Given the description of an element on the screen output the (x, y) to click on. 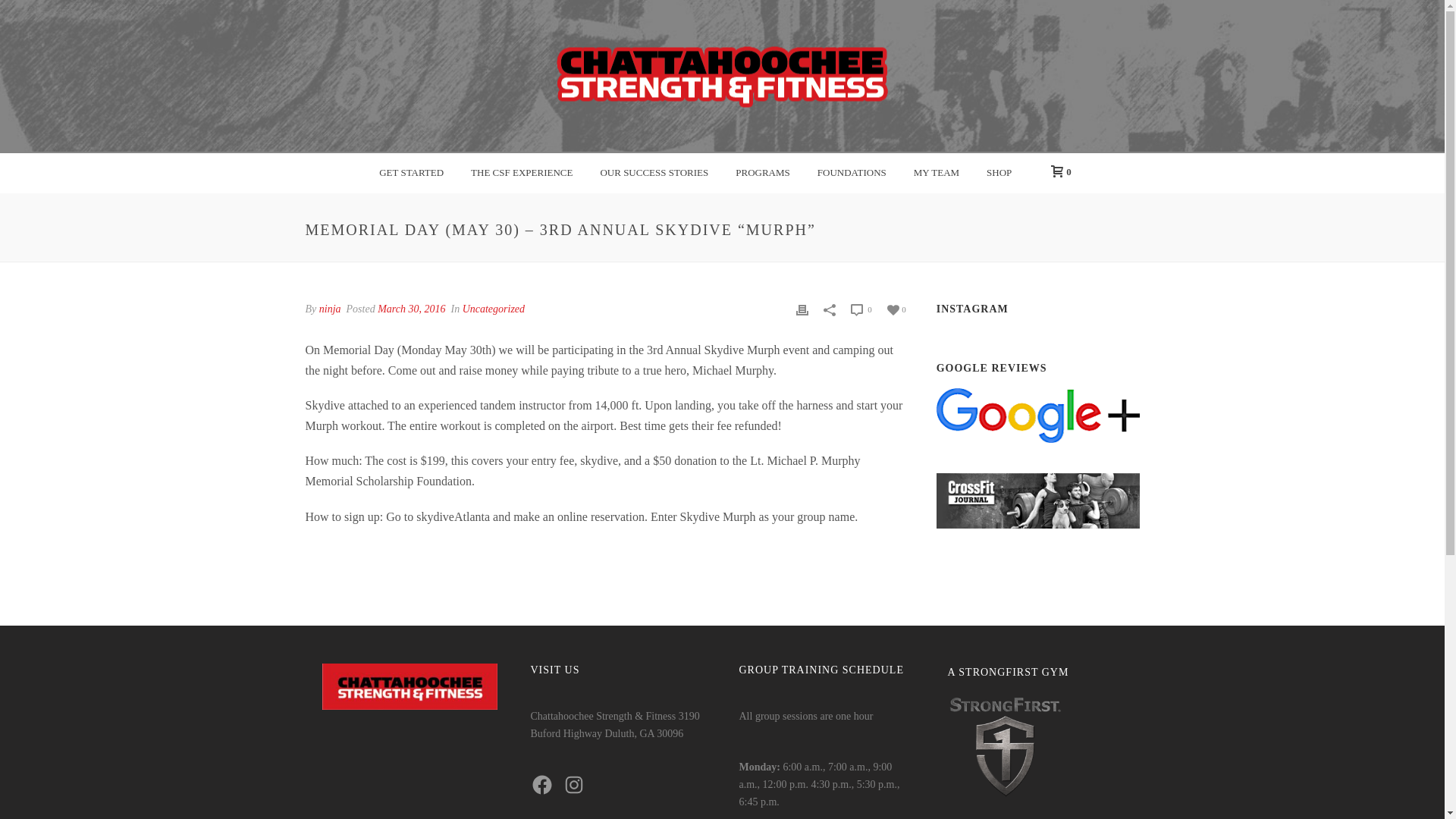
Uncategorized (493, 308)
OUR SUCCESS STORIES (654, 173)
Facebook (542, 784)
MY TEAM (935, 173)
0 (895, 308)
ninja (329, 308)
0 (1056, 171)
PROGRAMS (762, 173)
GET STARTED (411, 173)
Posts by ninja (329, 308)
